Given the description of an element on the screen output the (x, y) to click on. 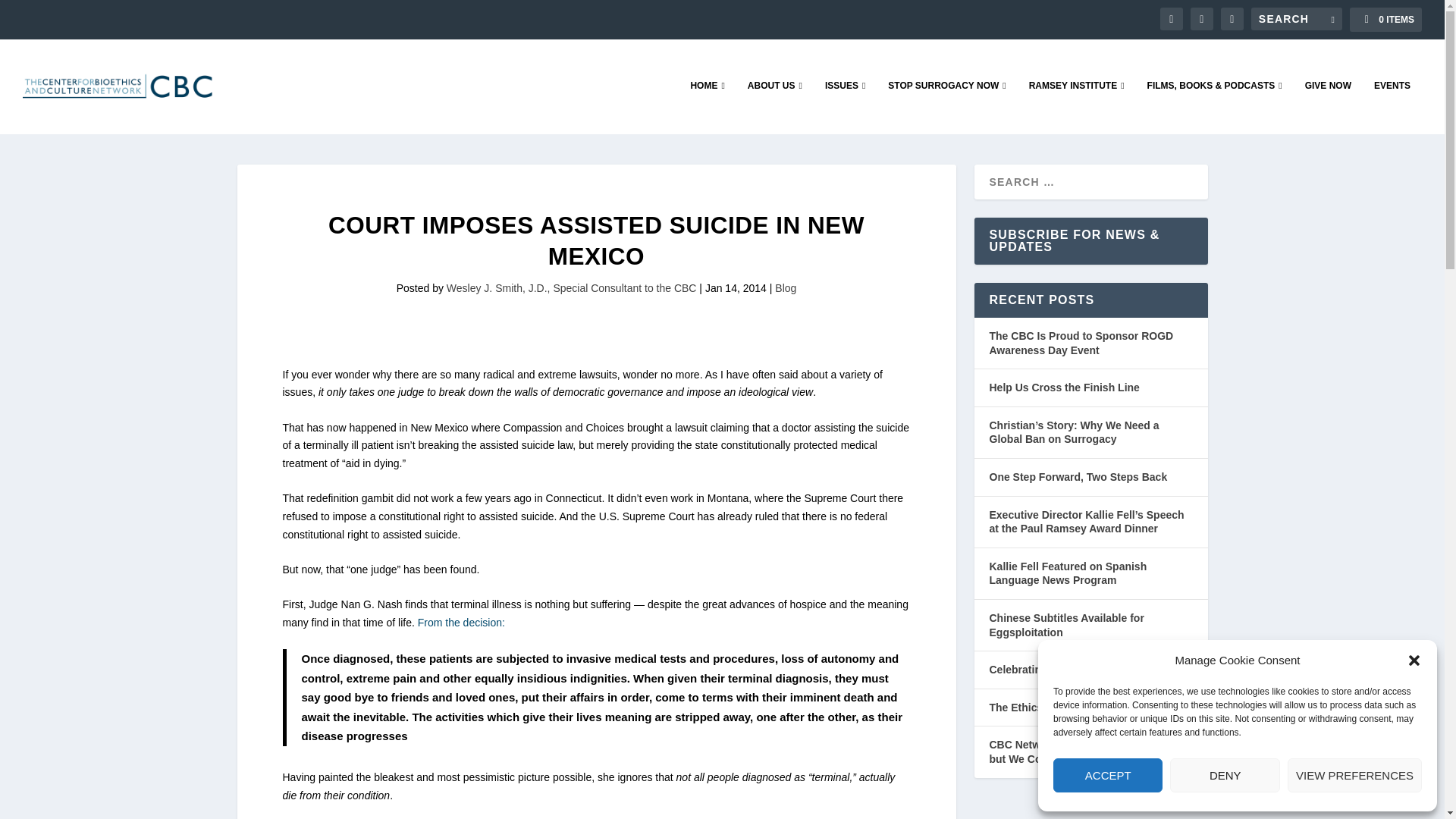
VIEW PREFERENCES (1354, 775)
ACCEPT (1106, 775)
Search for: (1296, 18)
ABOUT US (775, 106)
DENY (1224, 775)
0 Items in Cart (1385, 19)
0 ITEMS (1385, 19)
